Given the description of an element on the screen output the (x, y) to click on. 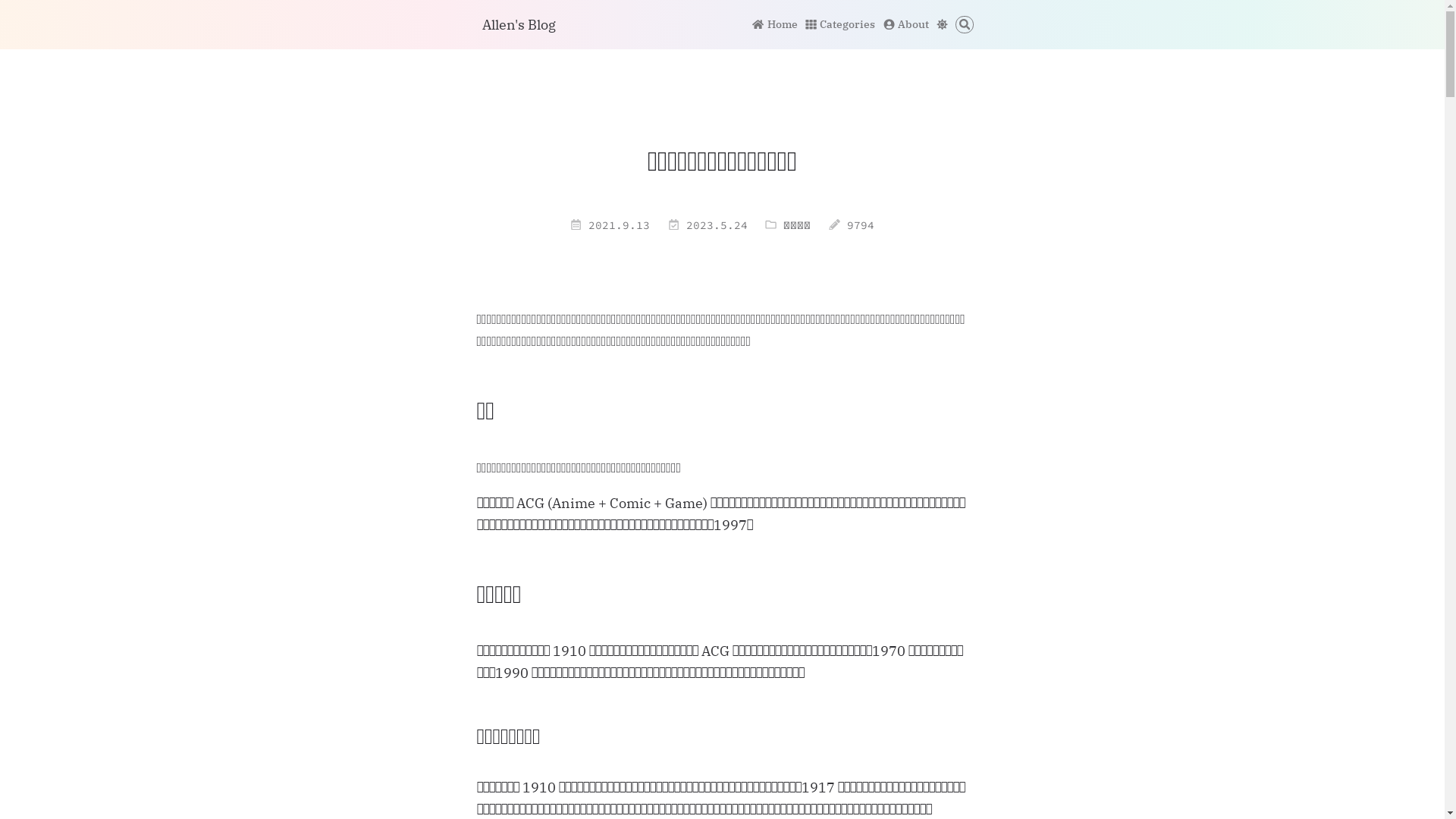
Home Element type: text (774, 23)
Allen's Blog Element type: text (518, 24)
About Element type: text (905, 23)
Categories Element type: text (840, 23)
